Given the description of an element on the screen output the (x, y) to click on. 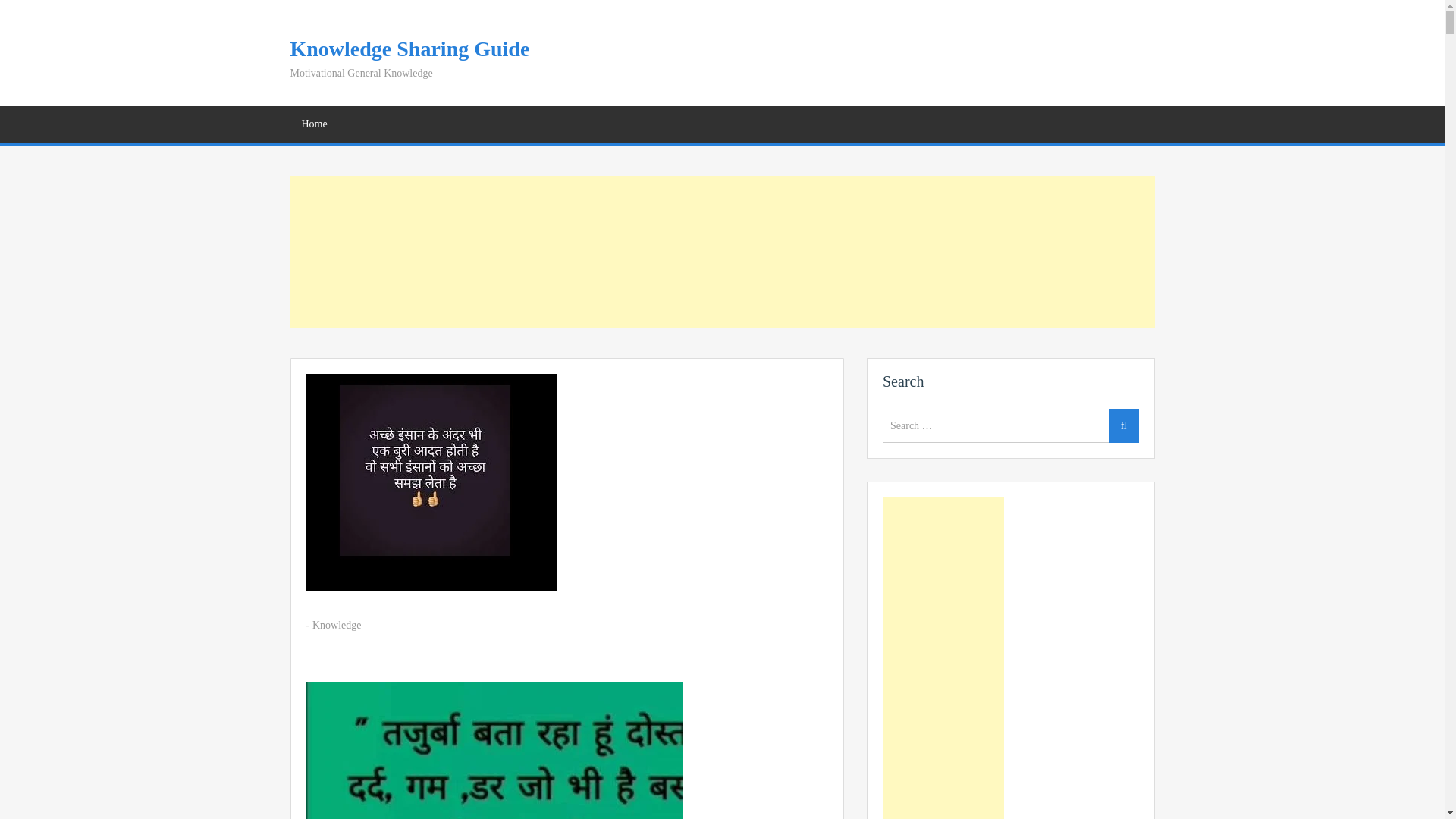
Knowledge (337, 624)
Advertisement (721, 251)
Knowledge Sharing Guide (409, 48)
Home (313, 124)
